Given the description of an element on the screen output the (x, y) to click on. 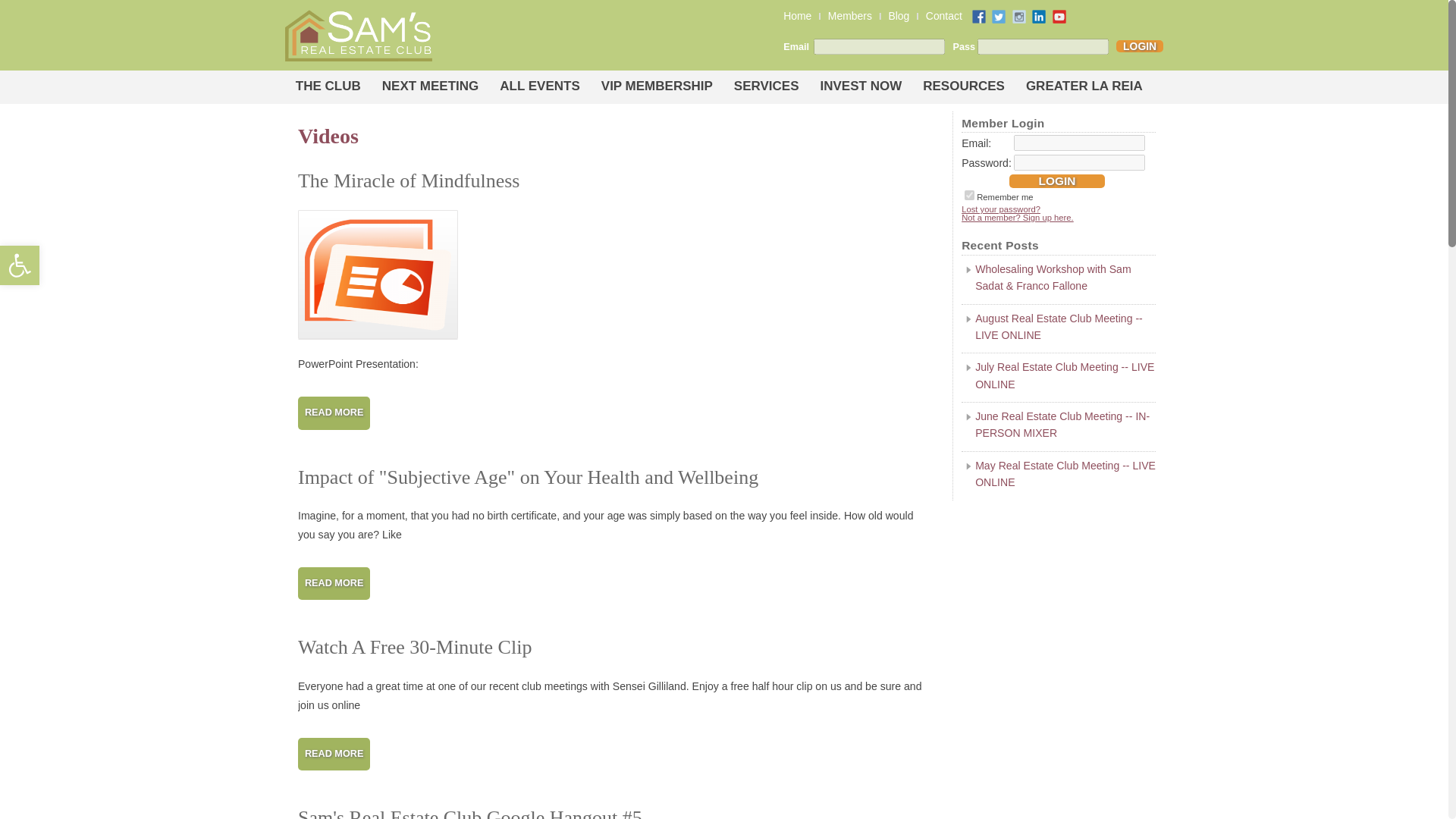
INVEST NOW (19, 265)
Contact (860, 85)
RESOURCES (944, 15)
Login (963, 85)
Login (1057, 181)
ALL EVENTS (1139, 46)
Permanent Link to The Miracle of Mindfulness (539, 85)
NEXT MEETING (408, 180)
VIP MEMBERSHIP (430, 85)
THE CLUB (657, 85)
forever (328, 85)
Home (968, 194)
SERVICES (796, 15)
